Given the description of an element on the screen output the (x, y) to click on. 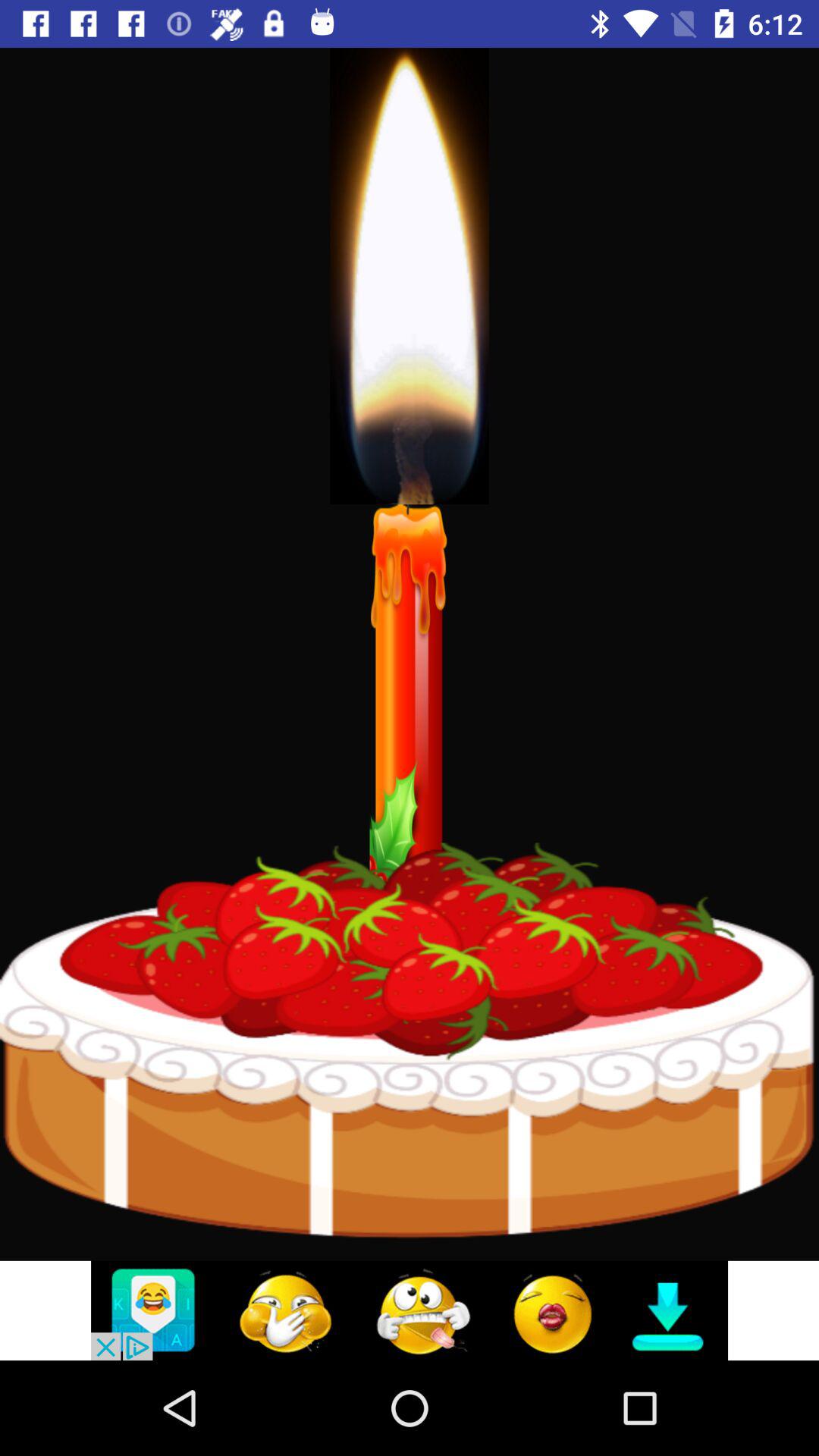
click discriiption (409, 1310)
